Given the description of an element on the screen output the (x, y) to click on. 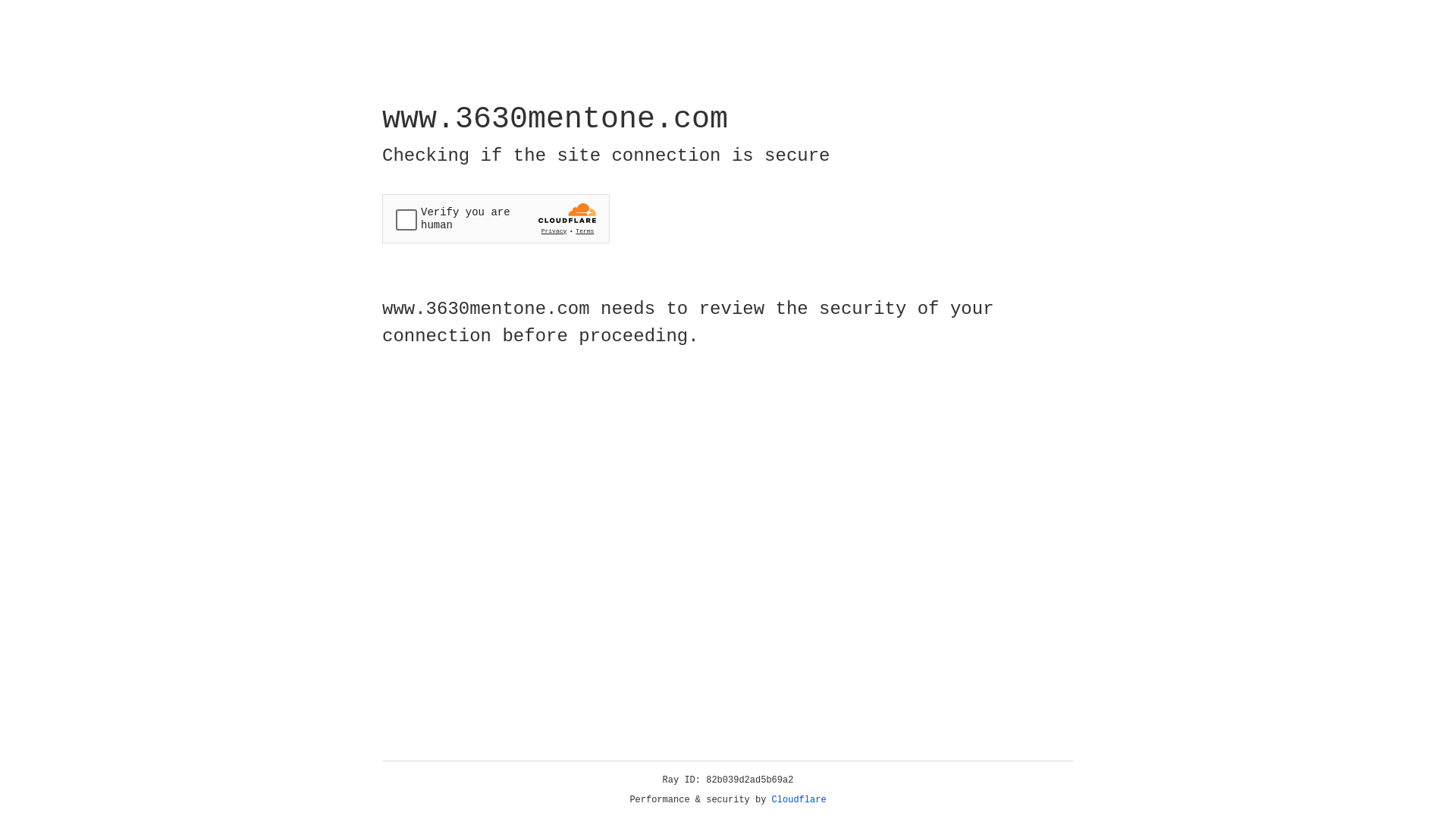
Widget containing a Cloudflare security challenge Element type: hover (495, 218)
Cloudflare Element type: text (798, 799)
